Given the description of an element on the screen output the (x, y) to click on. 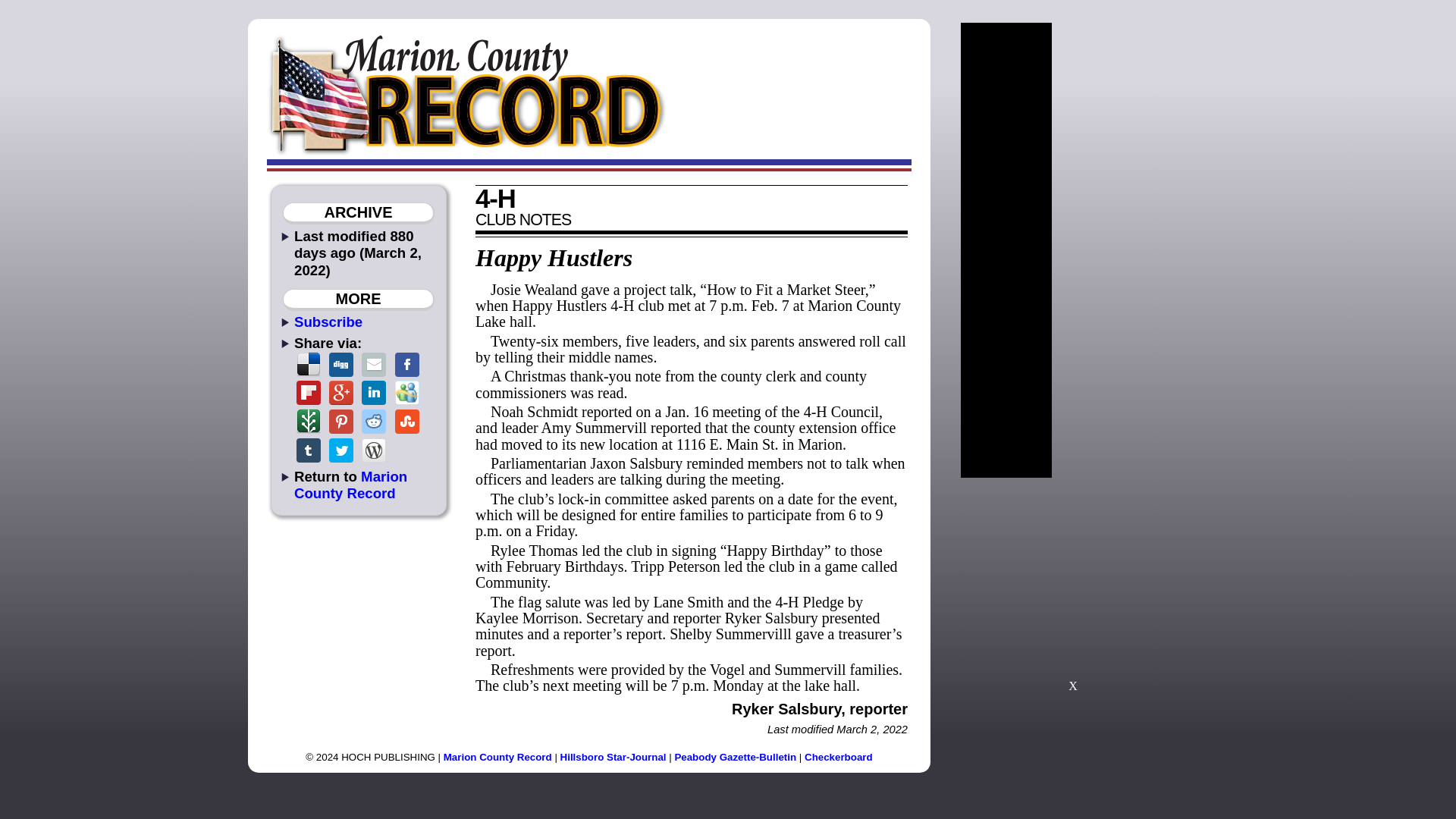
Marion County Record (497, 756)
Advertisement (1072, 591)
Marion County Record (350, 484)
Peabody Gazette-Bulletin (735, 756)
Checkerboard (838, 756)
Hillsboro Star-Journal (613, 756)
Subscribe (328, 321)
